Given the description of an element on the screen output the (x, y) to click on. 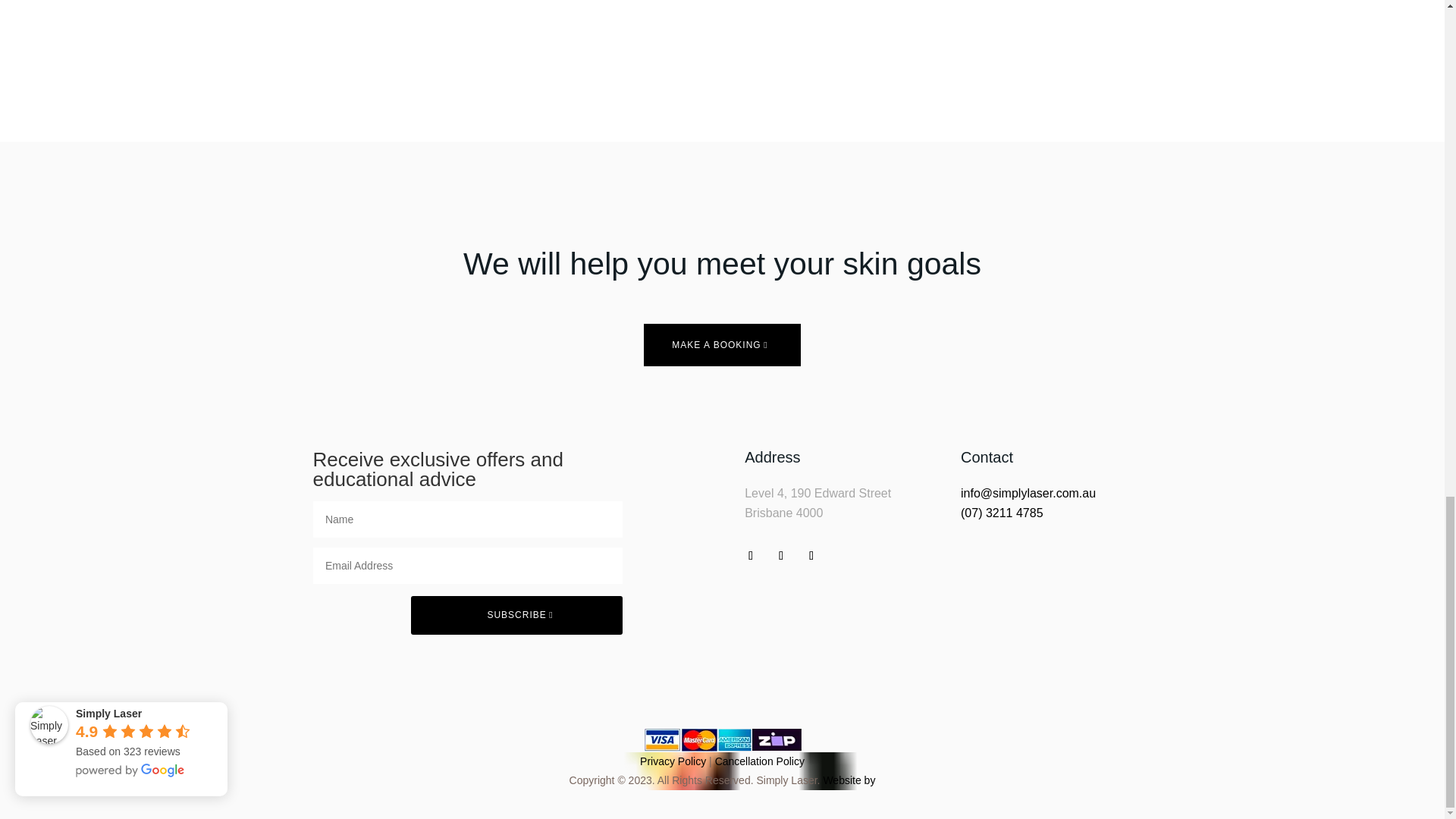
Chat on Messenger (811, 555)
Follow on Facebook (750, 555)
SimplyPayments (722, 739)
Follow on Instagram (780, 555)
